Given the description of an element on the screen output the (x, y) to click on. 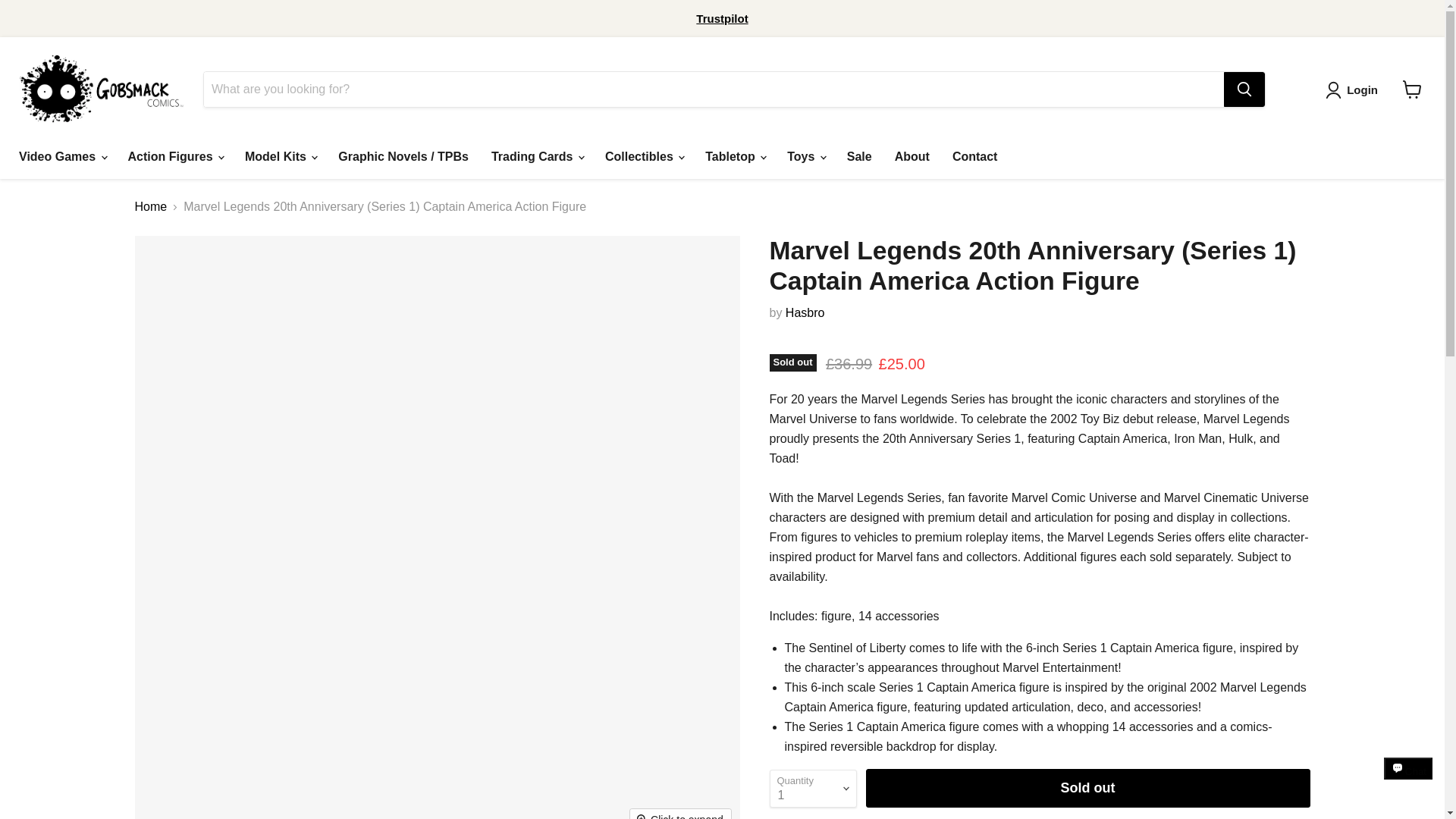
Shopify online store chat (1408, 781)
View cart (1411, 89)
Login (1362, 89)
Hasbro (805, 312)
Trustpilot (721, 18)
